Given the description of an element on the screen output the (x, y) to click on. 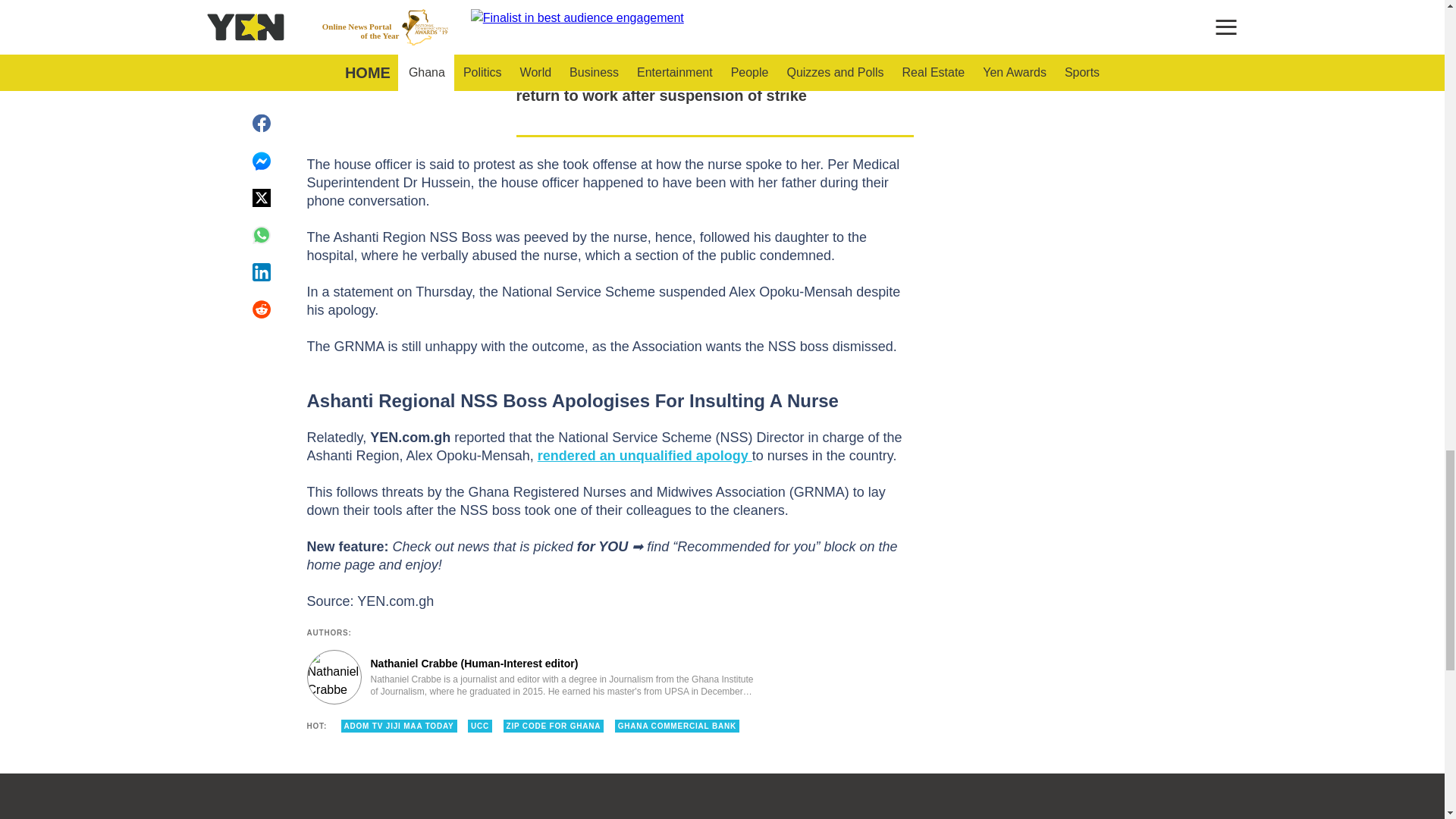
2024-08-03T14:36:09Z (981, 83)
Author page (533, 677)
2024-08-03T18:42:36Z (979, 19)
